Given the description of an element on the screen output the (x, y) to click on. 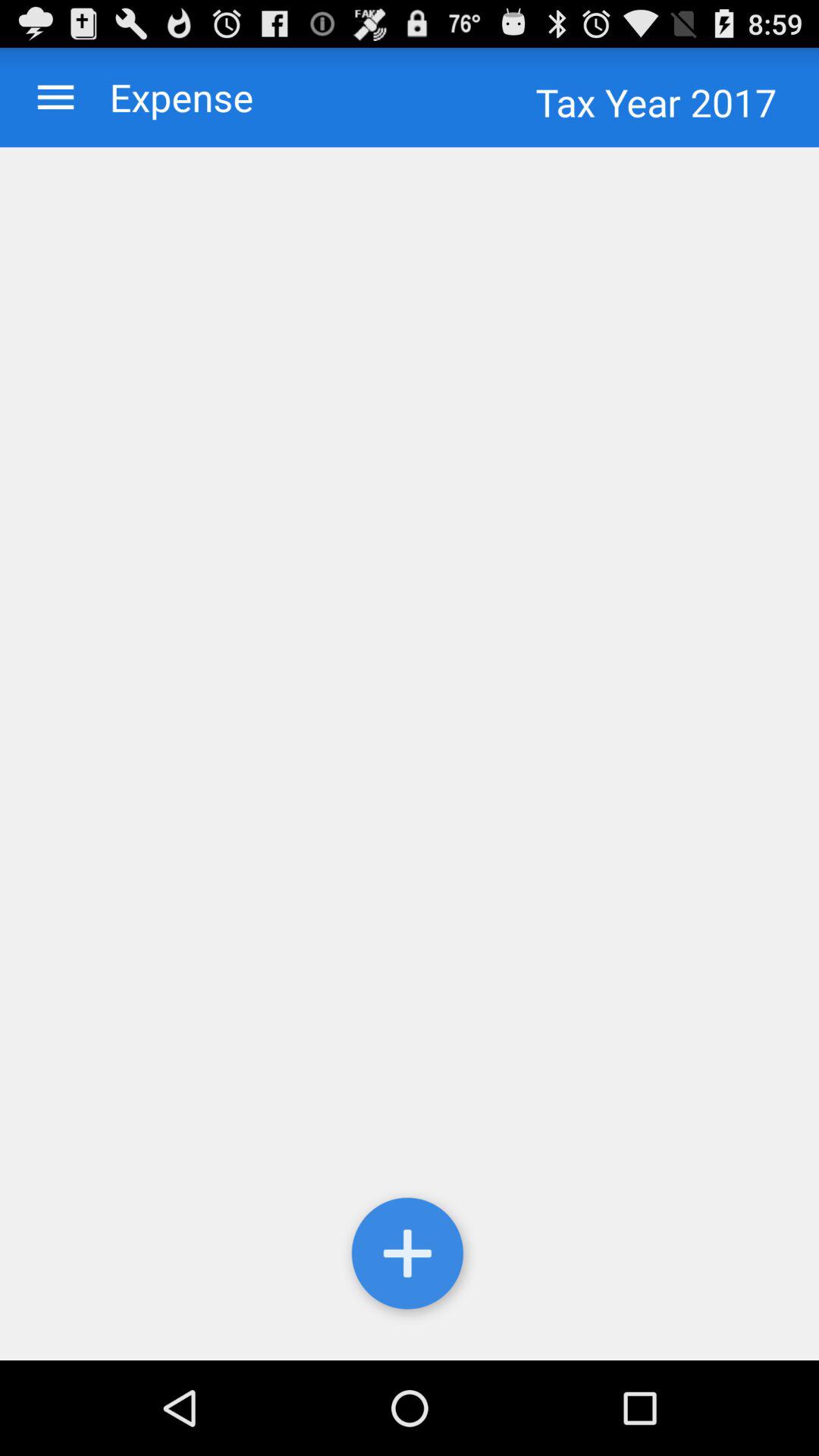
add new expense (409, 753)
